Given the description of an element on the screen output the (x, y) to click on. 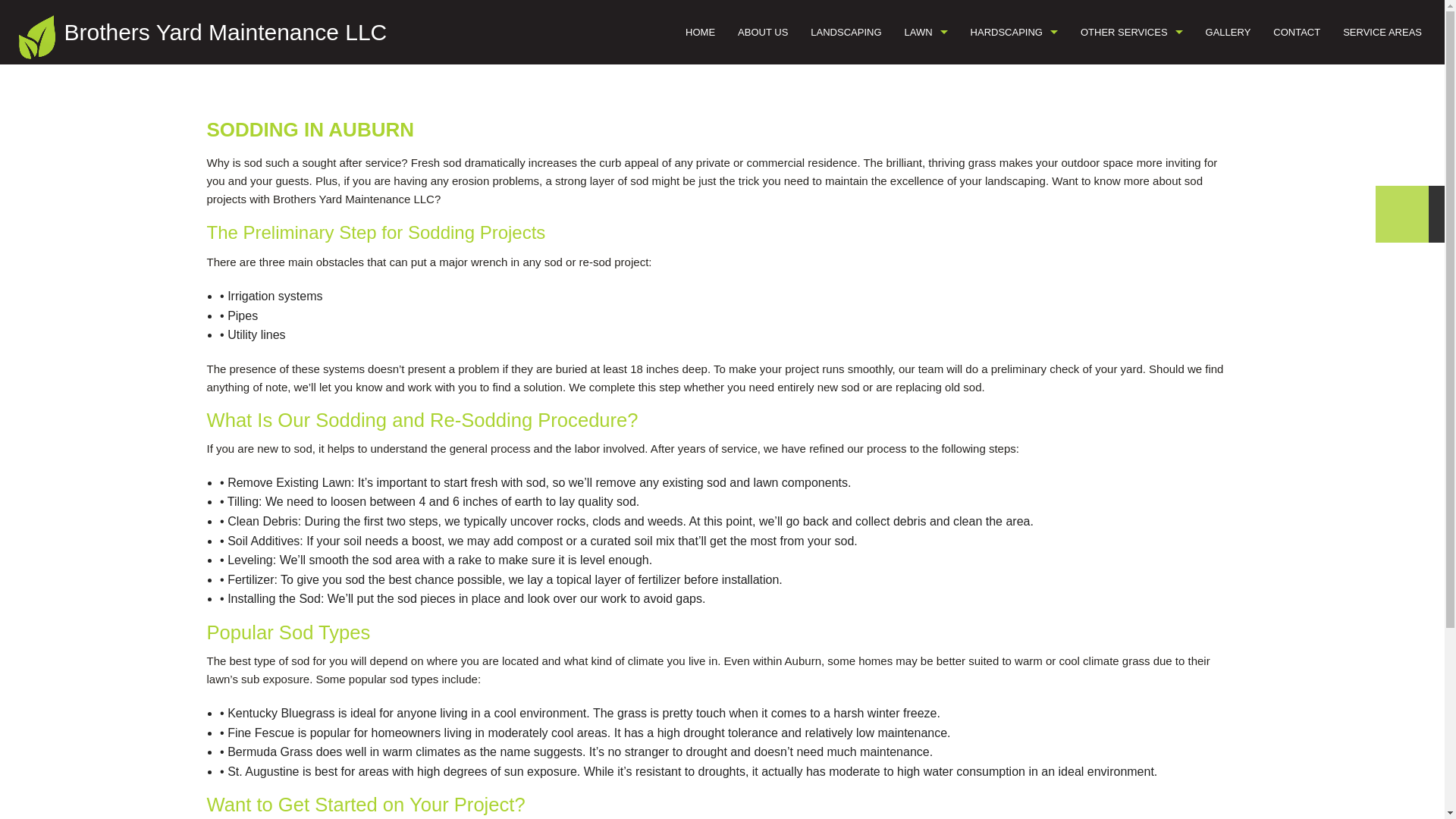
OTHER SERVICES (1130, 32)
HARDSCAPING (1013, 32)
SERVICE AREAS (1382, 32)
CONTACT (1297, 32)
HOME (700, 32)
LAWN (926, 32)
Brothers Yard Maintenance LLC (225, 32)
GALLERY (1227, 32)
LANDSCAPING (845, 32)
ABOUT US (762, 32)
